Given the description of an element on the screen output the (x, y) to click on. 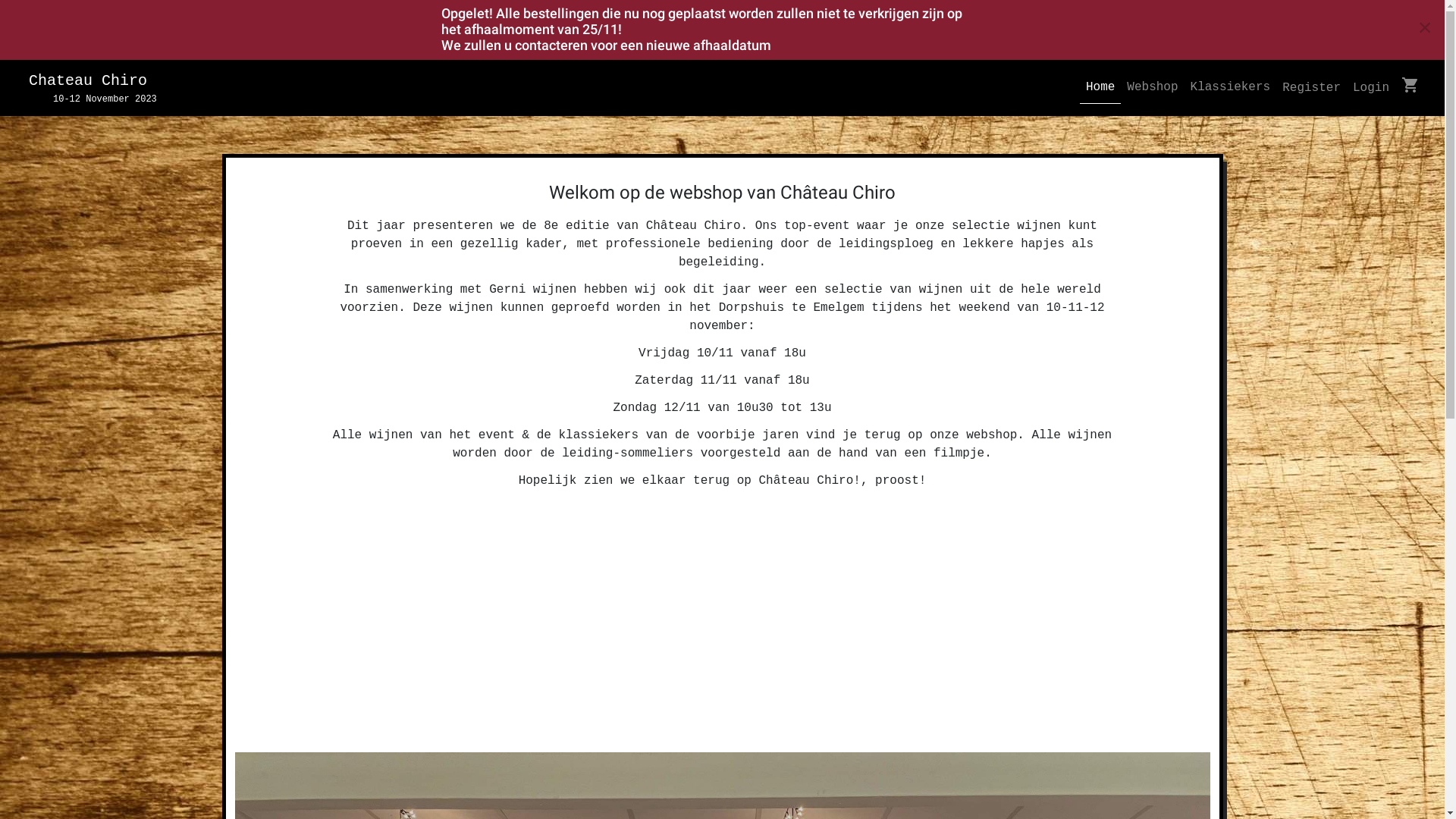
Webshop Element type: text (1151, 87)
Login Element type: text (1370, 87)
Chateau Chiro
10-12 November 2023 Element type: text (87, 87)
Home Element type: text (1099, 87)
Register Element type: text (1311, 87)
shopping_cart Element type: text (1410, 87)
Klassiekers Element type: text (1230, 87)
